Given the description of an element on the screen output the (x, y) to click on. 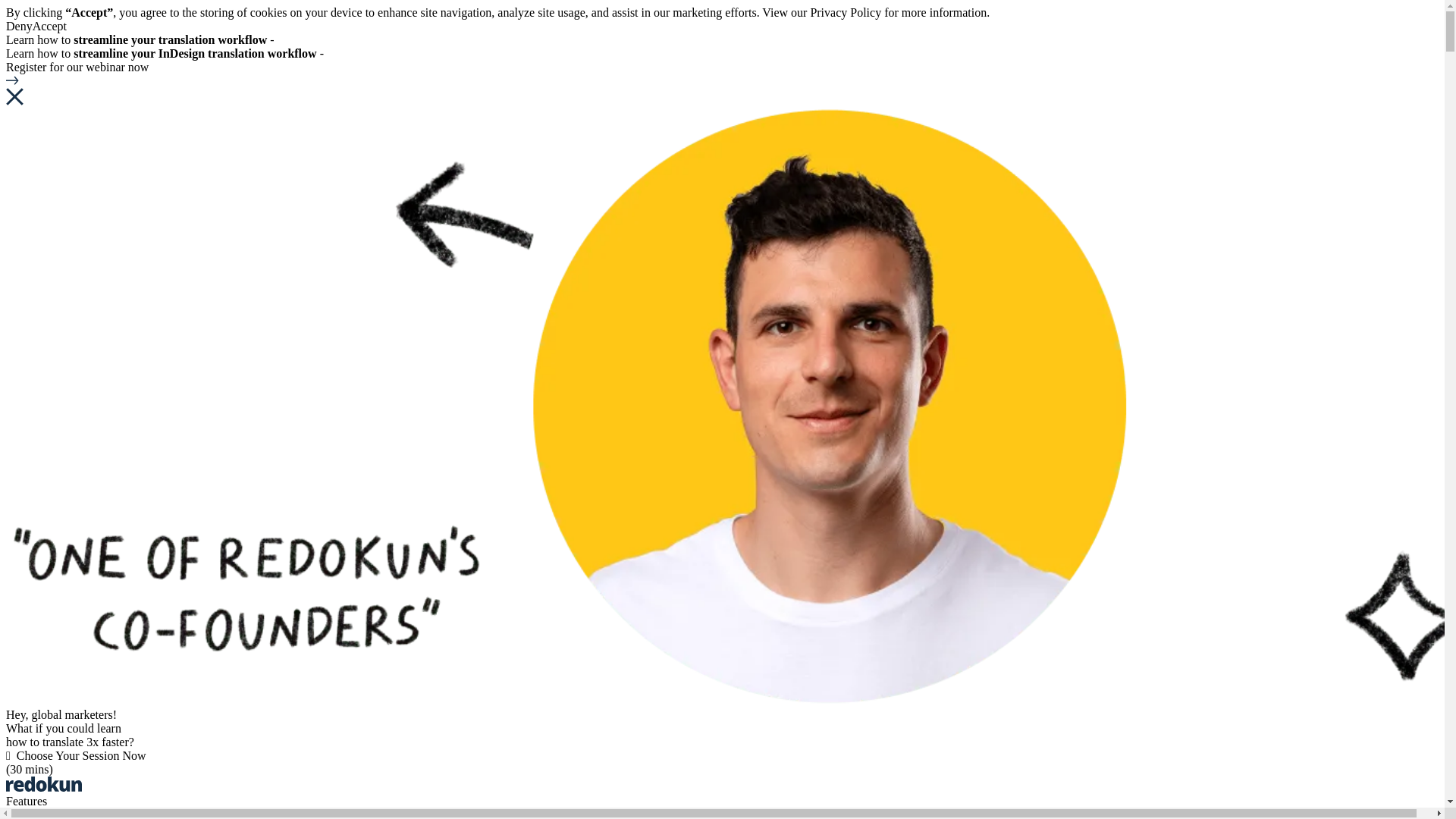
Accept (49, 25)
Deny (18, 25)
Register for our webinar now (721, 73)
Privacy Policy (844, 11)
